Given the description of an element on the screen output the (x, y) to click on. 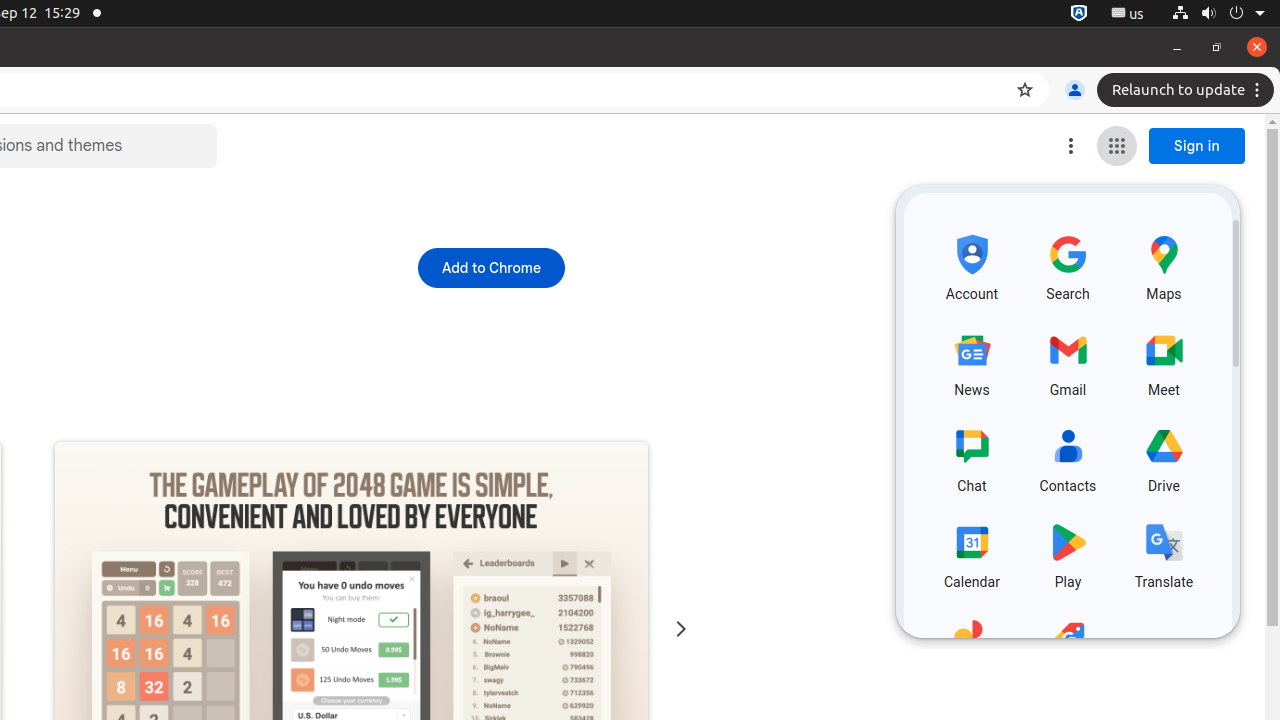
You Element type: push-button (1075, 90)
Meet, row 2 of 5 and column 3 of 3 in the first section (opens a new tab) Element type: link (1164, 361)
Play, row 4 of 5 and column 2 of 3 in the first section (opens a new tab) Element type: link (1068, 553)
More options menu Element type: push-button (1071, 145)
